Given the description of an element on the screen output the (x, y) to click on. 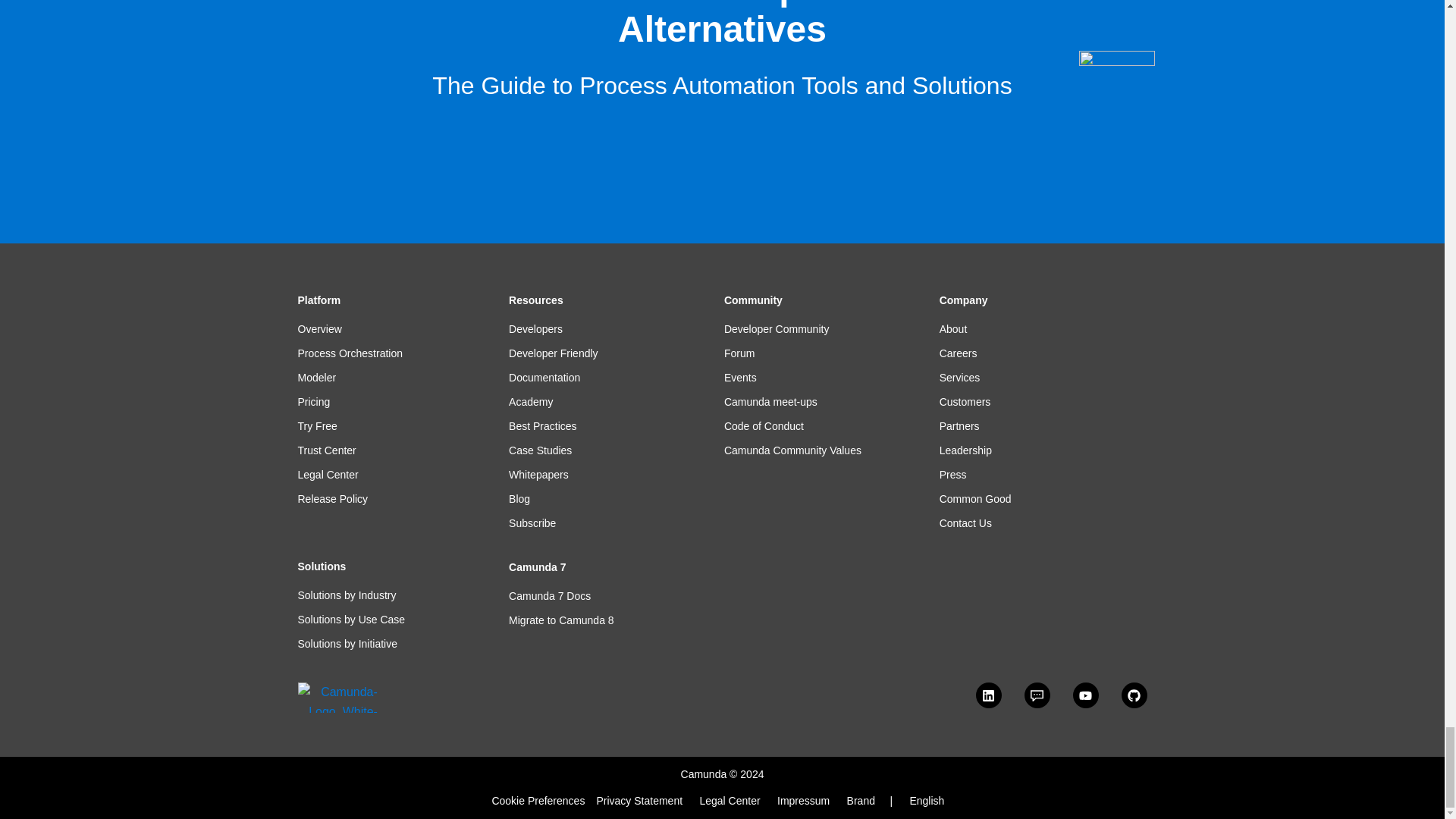
English (925, 800)
